Given the description of an element on the screen output the (x, y) to click on. 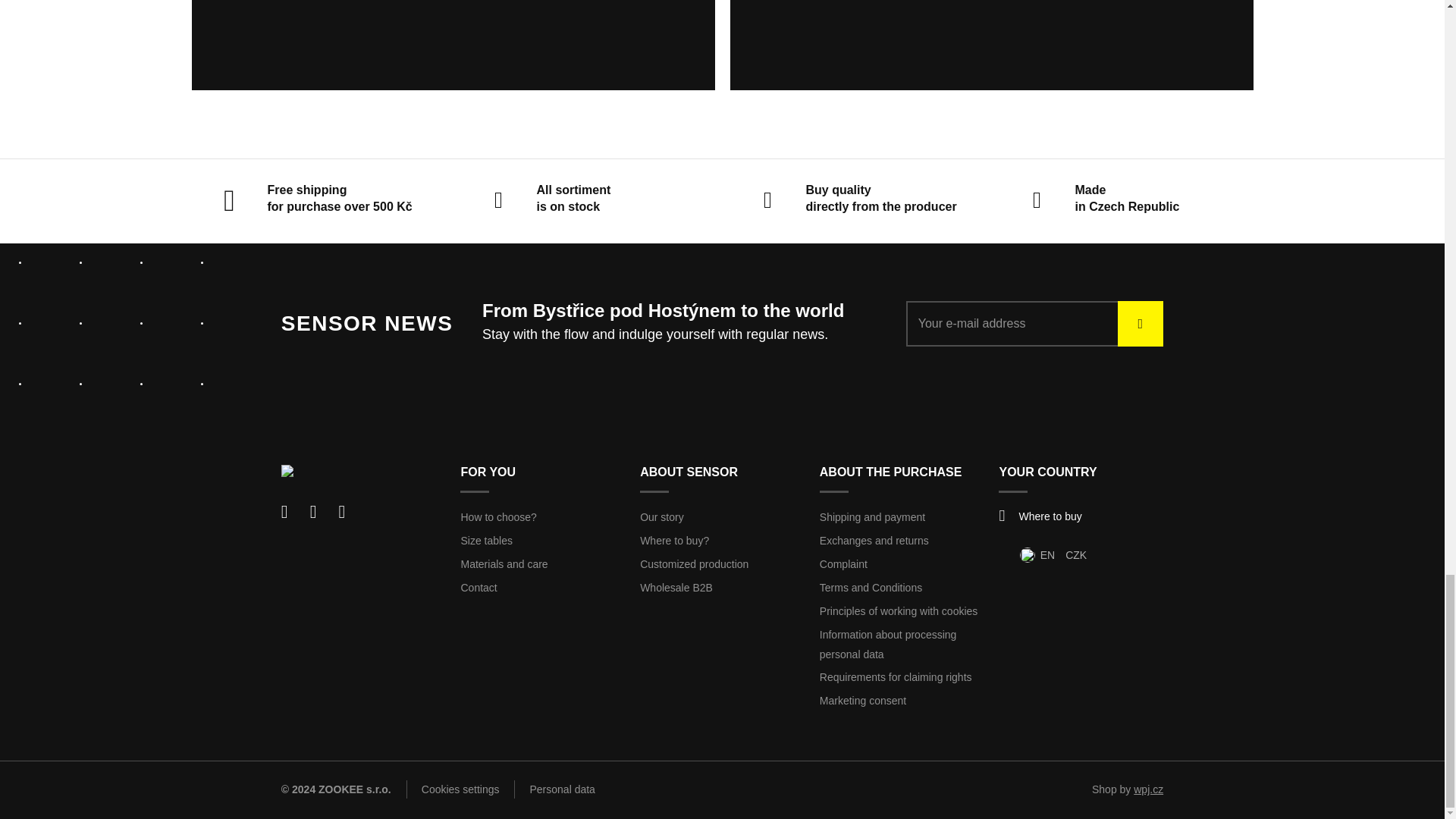
Shops (1039, 515)
